Given the description of an element on the screen output the (x, y) to click on. 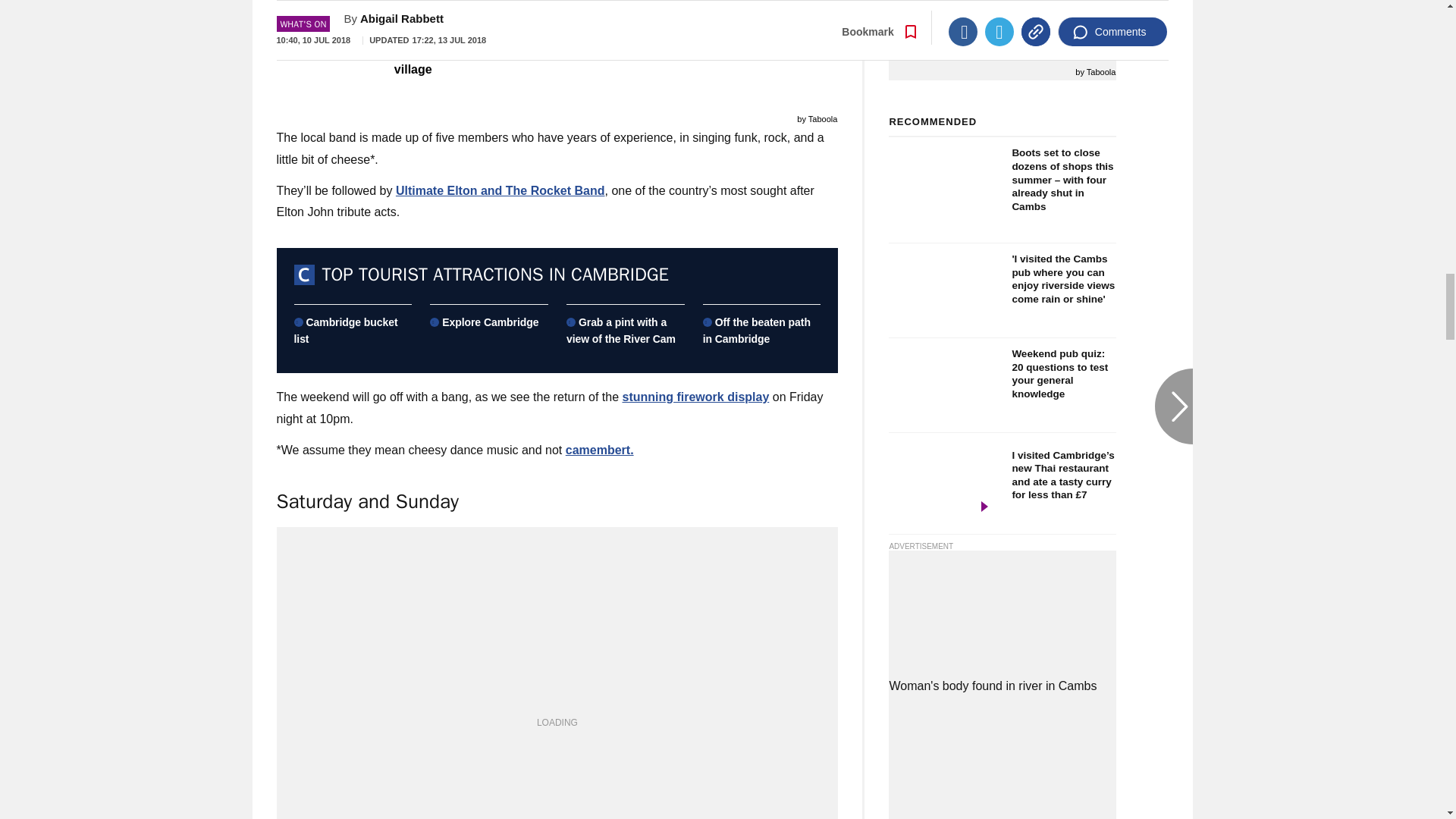
Motorcyclist dies after crash in Cambridgeshire village (413, 52)
